Given the description of an element on the screen output the (x, y) to click on. 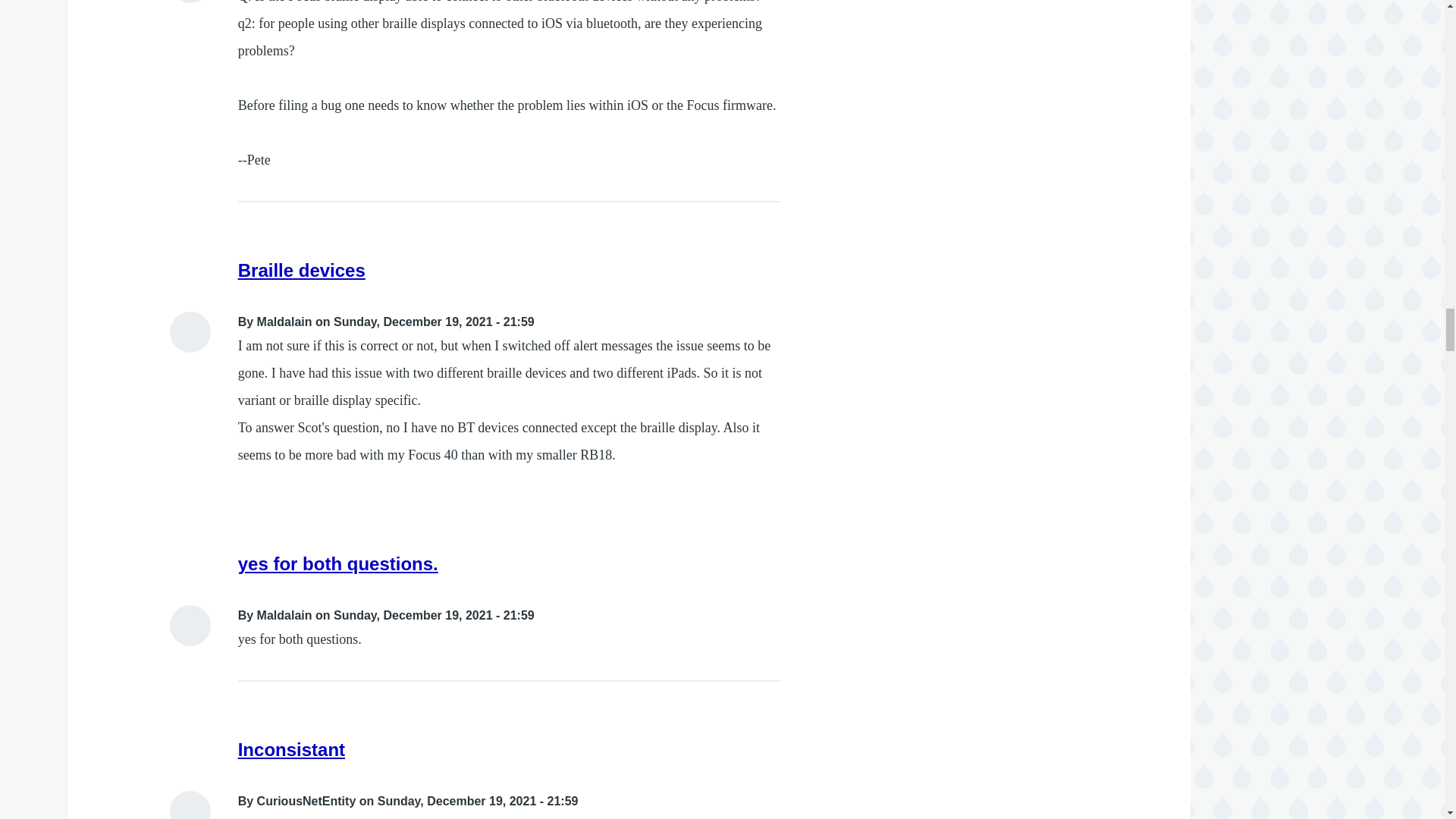
Braille devices (301, 270)
